Given the description of an element on the screen output the (x, y) to click on. 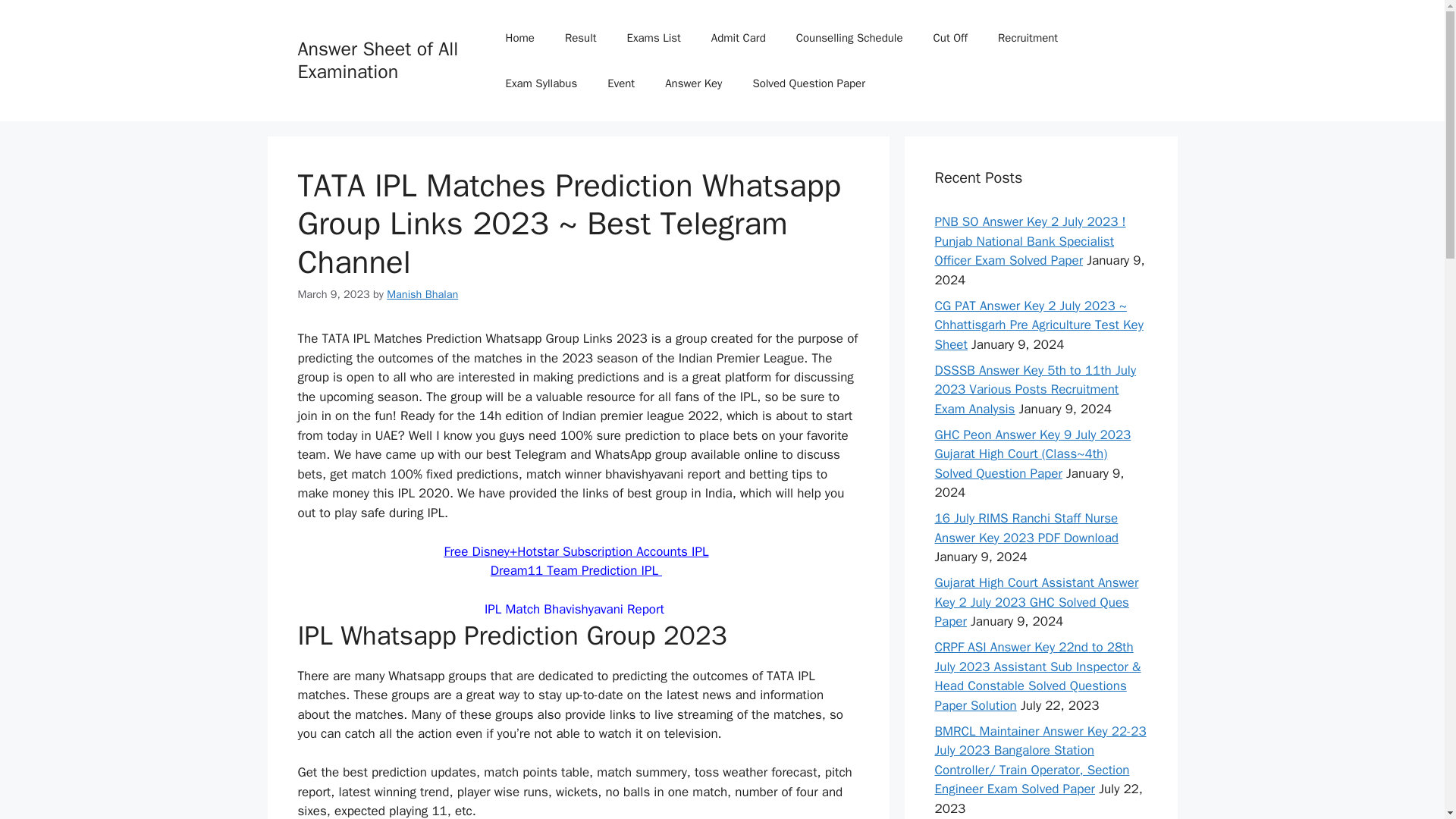
Answer Sheet of All Examination (377, 59)
Home (520, 37)
Event (620, 83)
Recruitment (1027, 37)
Exams List (653, 37)
Solved Question Paper (808, 83)
Cut Off (951, 37)
Result (580, 37)
